Given the description of an element on the screen output the (x, y) to click on. 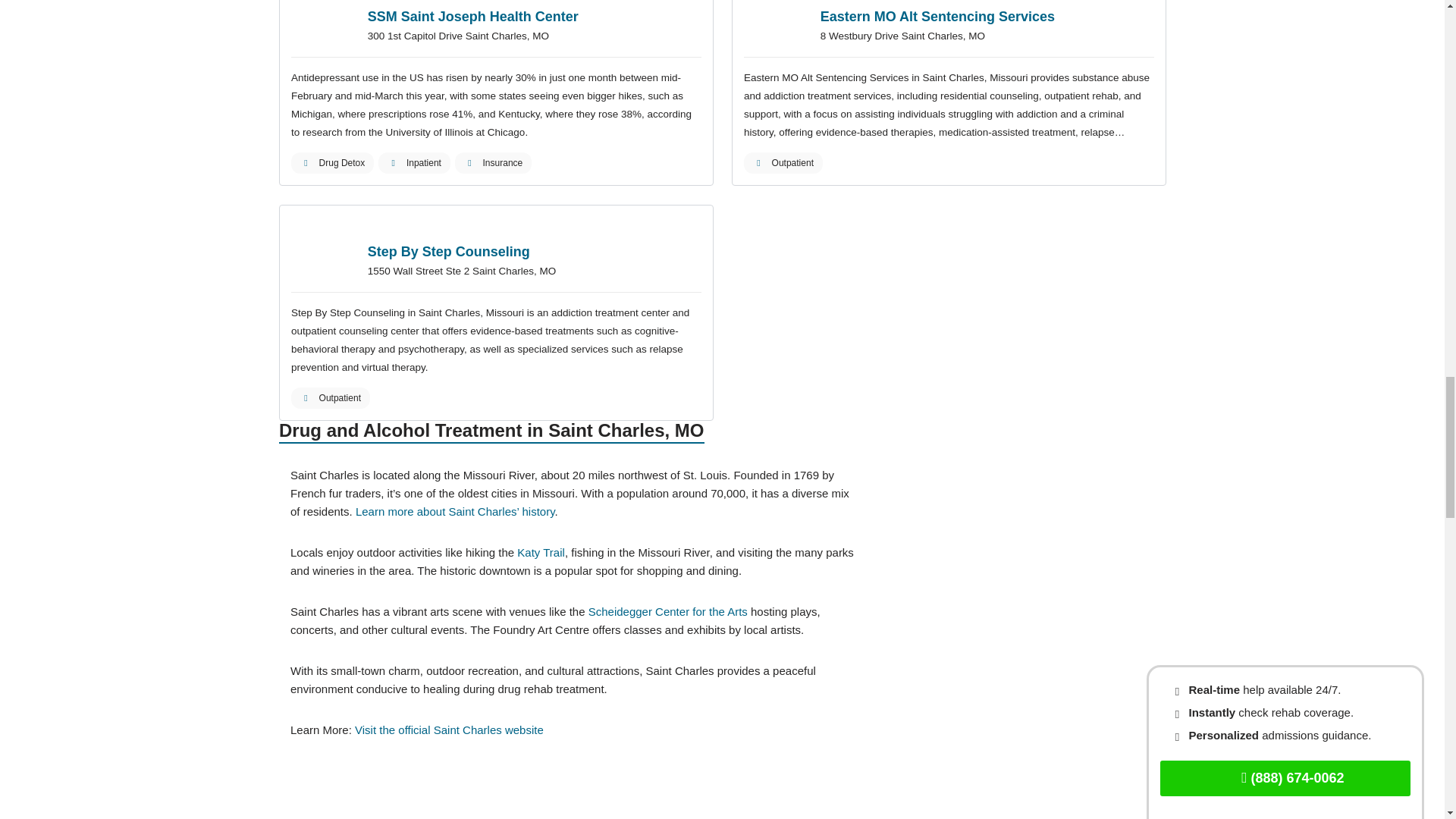
Katy-Trail-in-Saint-Charles-MO.jpeg (1017, 550)
